Given the description of an element on the screen output the (x, y) to click on. 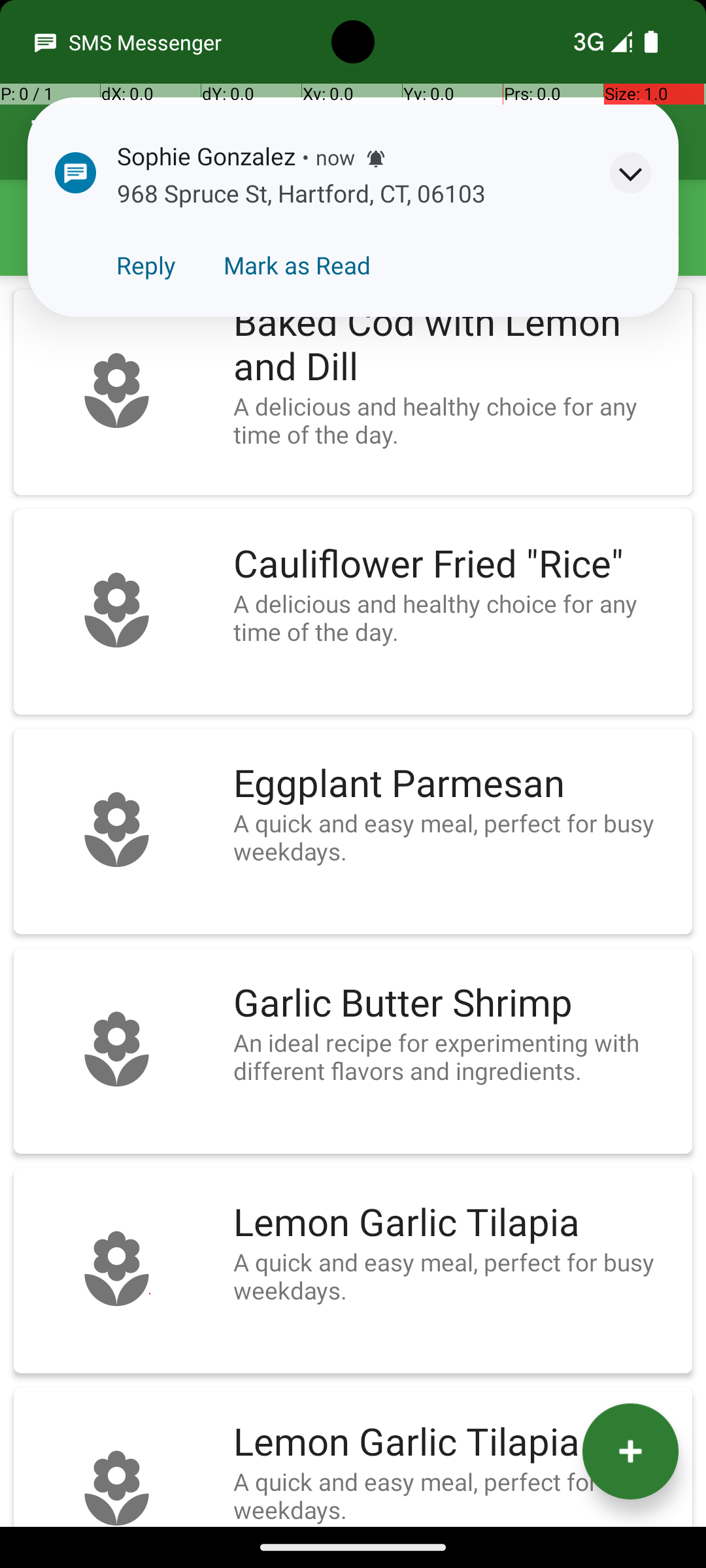
968 Spruce St, Hartford, CT, 06103 Element type: android.widget.TextView (301, 192)
Reply Element type: android.widget.Button (146, 265)
Mark as Read Element type: android.widget.Button (296, 265)
Sophie Gonzalez Element type: android.widget.TextView (206, 155)
